Given the description of an element on the screen output the (x, y) to click on. 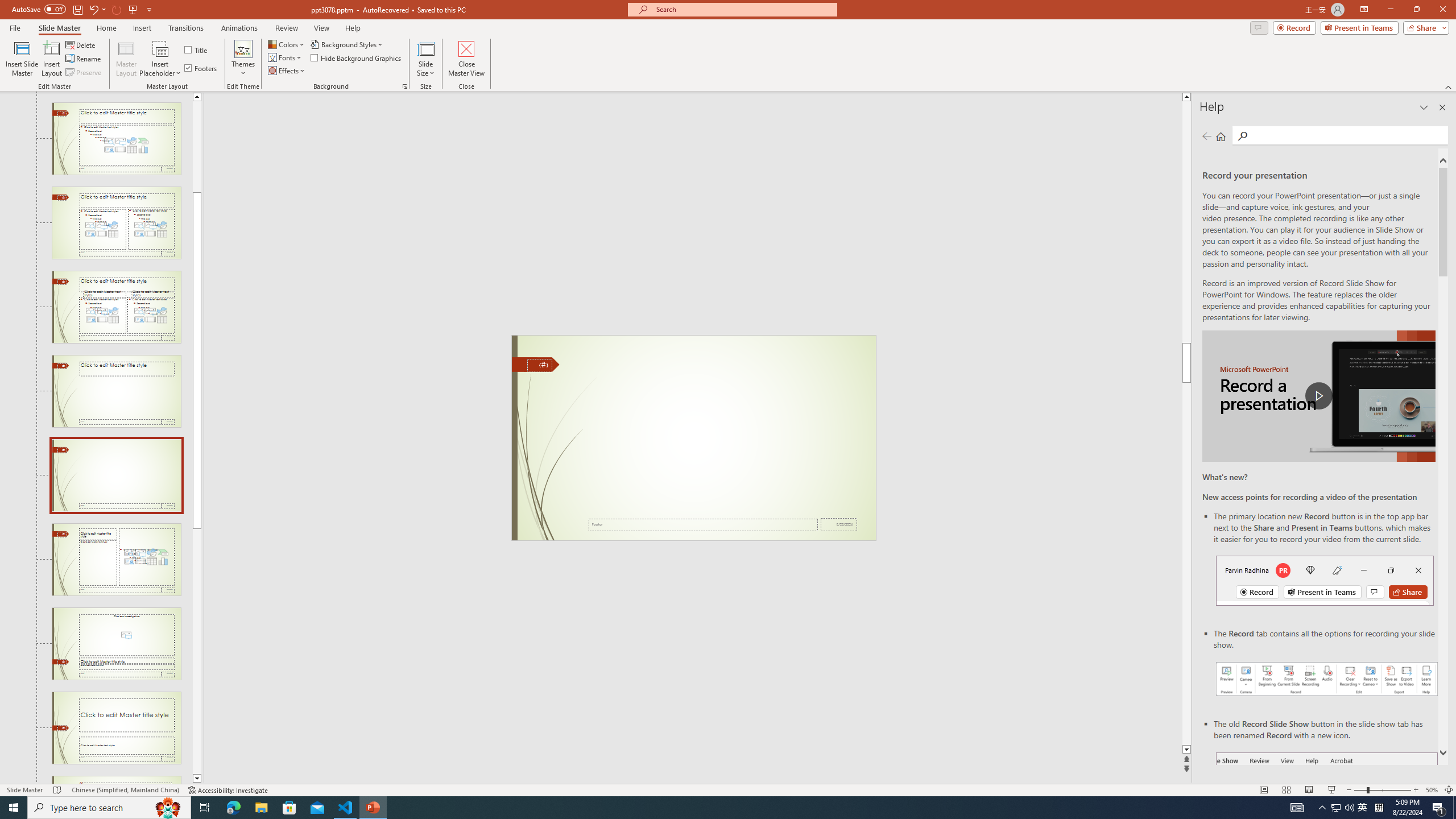
Slide Title Only Layout: used by no slides (116, 391)
Zoom 50% (1431, 790)
Colors (287, 44)
Date (839, 524)
